Given the description of an element on the screen output the (x, y) to click on. 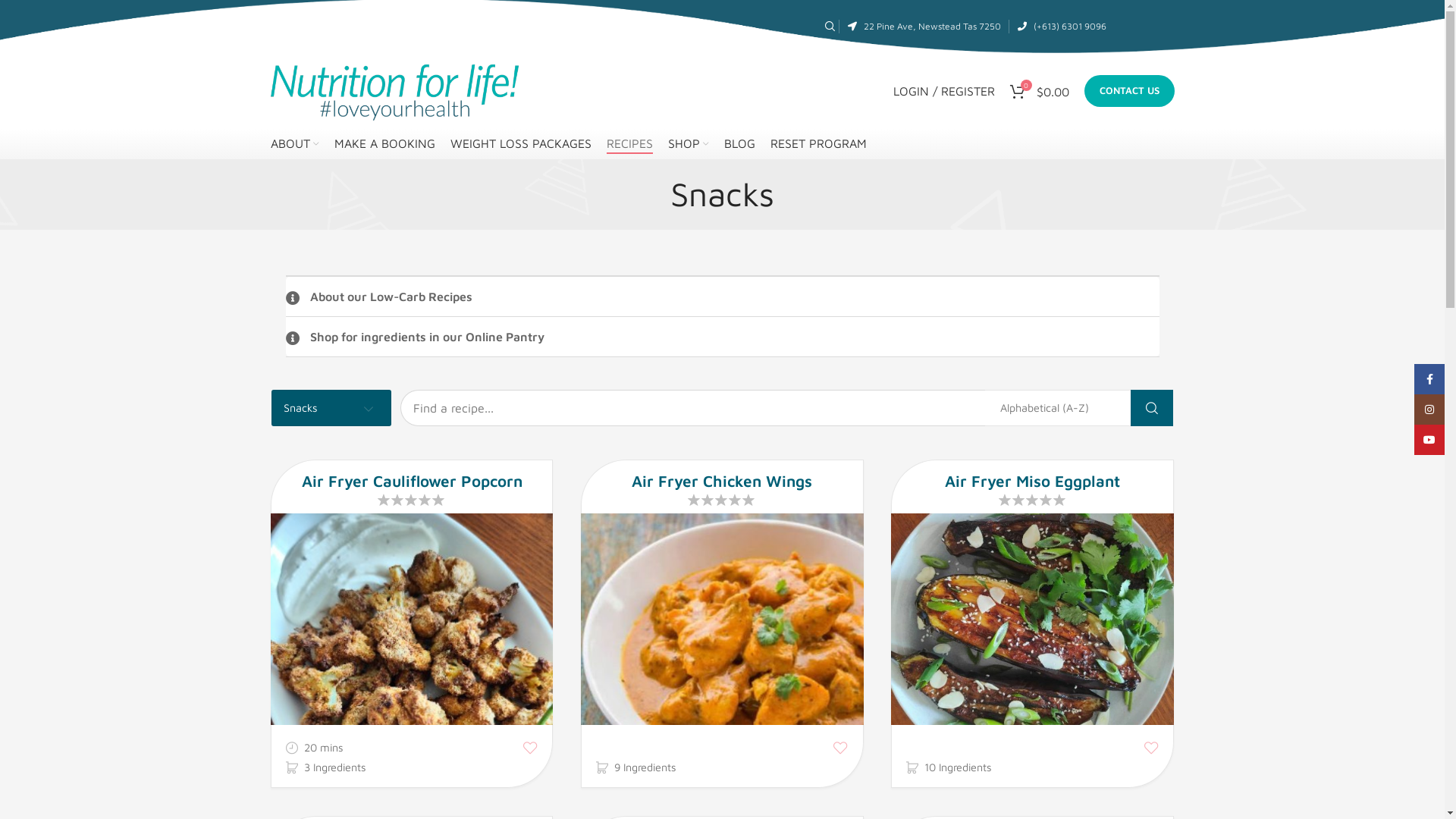
CONTACT US Element type: text (1129, 90)
Air Fryer Cauliflower Popcorn Element type: text (411, 475)
WEIGHT LOSS PACKAGES Element type: text (520, 143)
ABOUT Element type: text (293, 143)
Air Fryer Chicken Wings Element type: text (721, 475)
Search Element type: hover (827, 26)
Shop for ingredients in our Online Pantry Element type: text (721, 336)
SHOP Element type: text (687, 143)
RESET PROGRAM Element type: text (818, 143)
About our Low-Carb Recipes Element type: text (721, 296)
0
$0.00 Element type: text (1039, 90)
(+613) 6301 9096 Element type: text (1068, 25)
Air Fryer Miso Eggplant Element type: text (1032, 475)
BLOG Element type: text (738, 143)
RECIPES Element type: text (629, 143)
MAKE A BOOKING Element type: text (383, 143)
22 Pine Ave, Newstead Tas 7250 Element type: text (931, 25)
LOGIN / REGISTER Element type: text (943, 90)
